Given the description of an element on the screen output the (x, y) to click on. 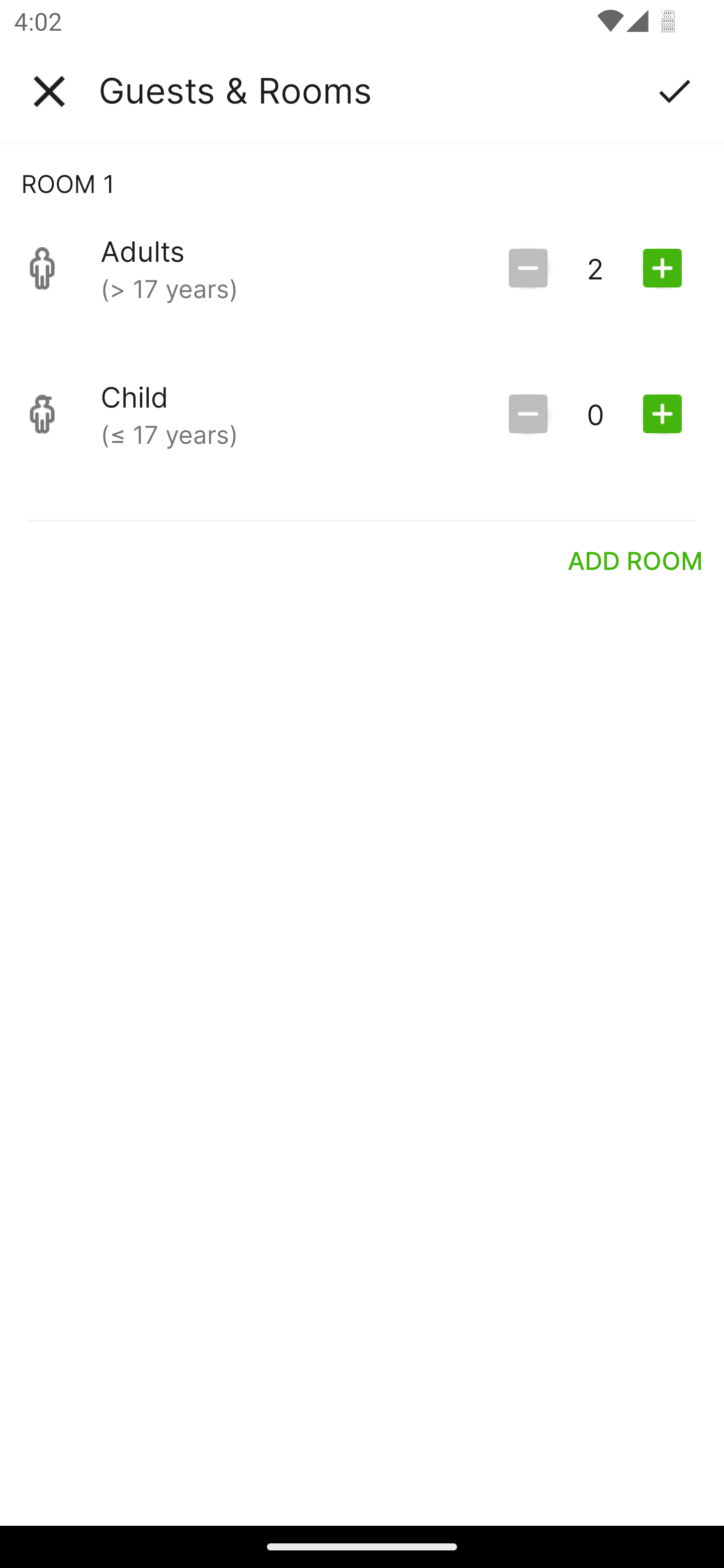
ADD ROOM (635, 560)
